Given the description of an element on the screen output the (x, y) to click on. 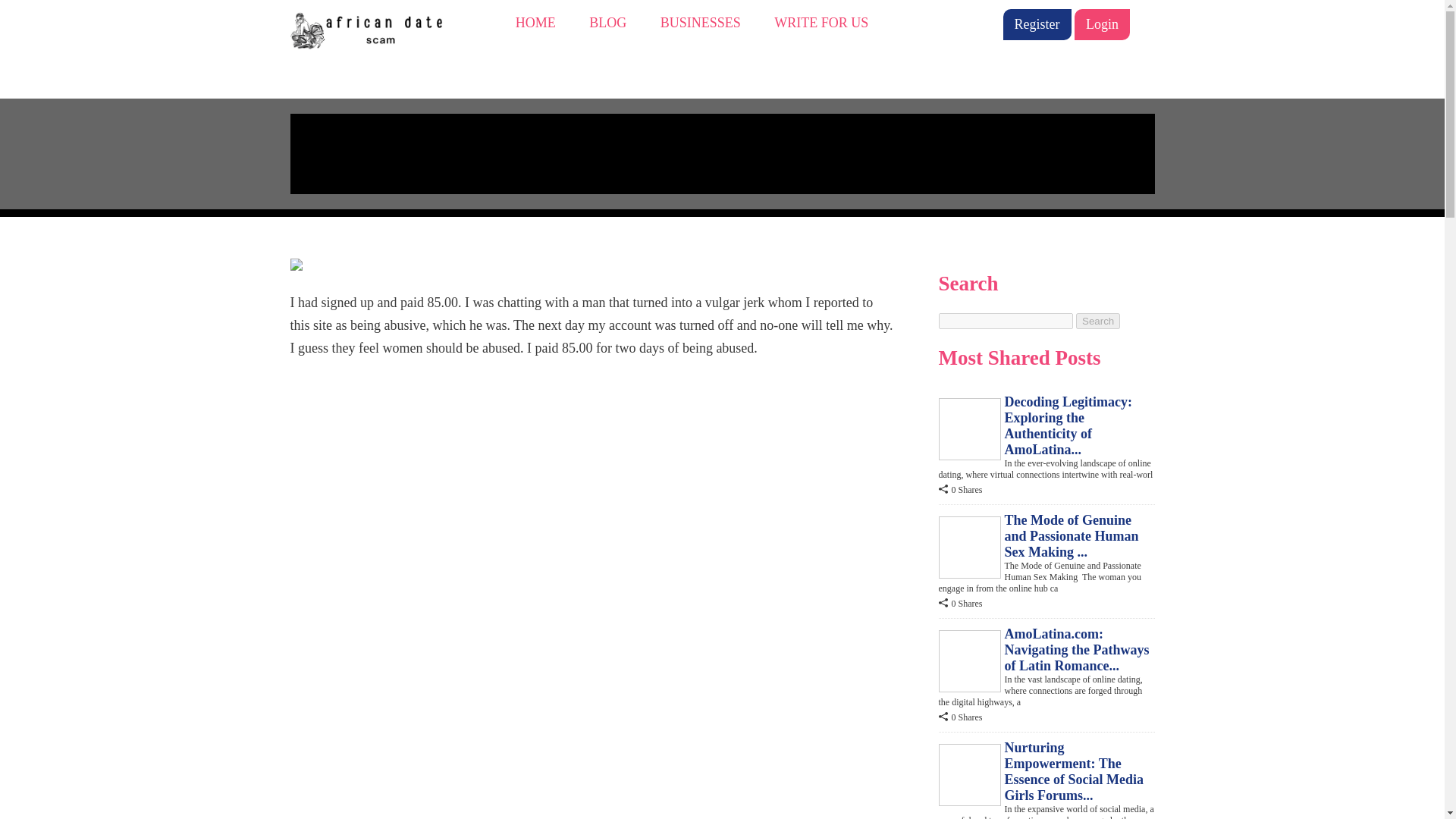
The Mode of Genuine and Passionate Human Sex Making ... (1071, 535)
AfricanDate Scam (370, 27)
AmoLatina.com: Navigating the Pathways of Latin Romance... (1076, 649)
Register (1036, 24)
Search (1097, 320)
Search (1097, 320)
BUSINESSES (701, 22)
